Given the description of an element on the screen output the (x, y) to click on. 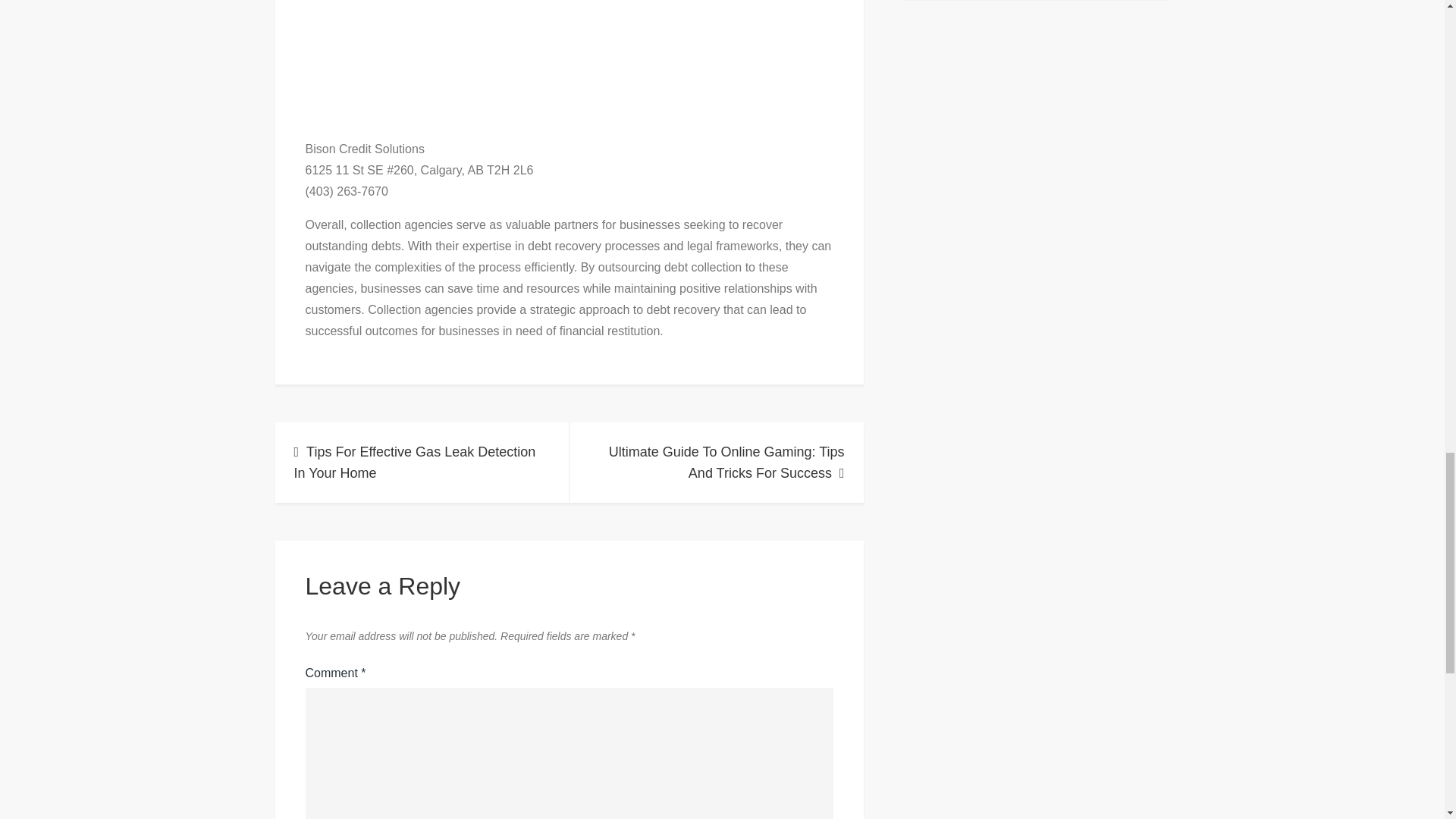
Tips For Effective Gas Leak Detection In Your Home (422, 462)
Ultimate Guide To Online Gaming: Tips And Tricks For Success (716, 462)
